Given the description of an element on the screen output the (x, y) to click on. 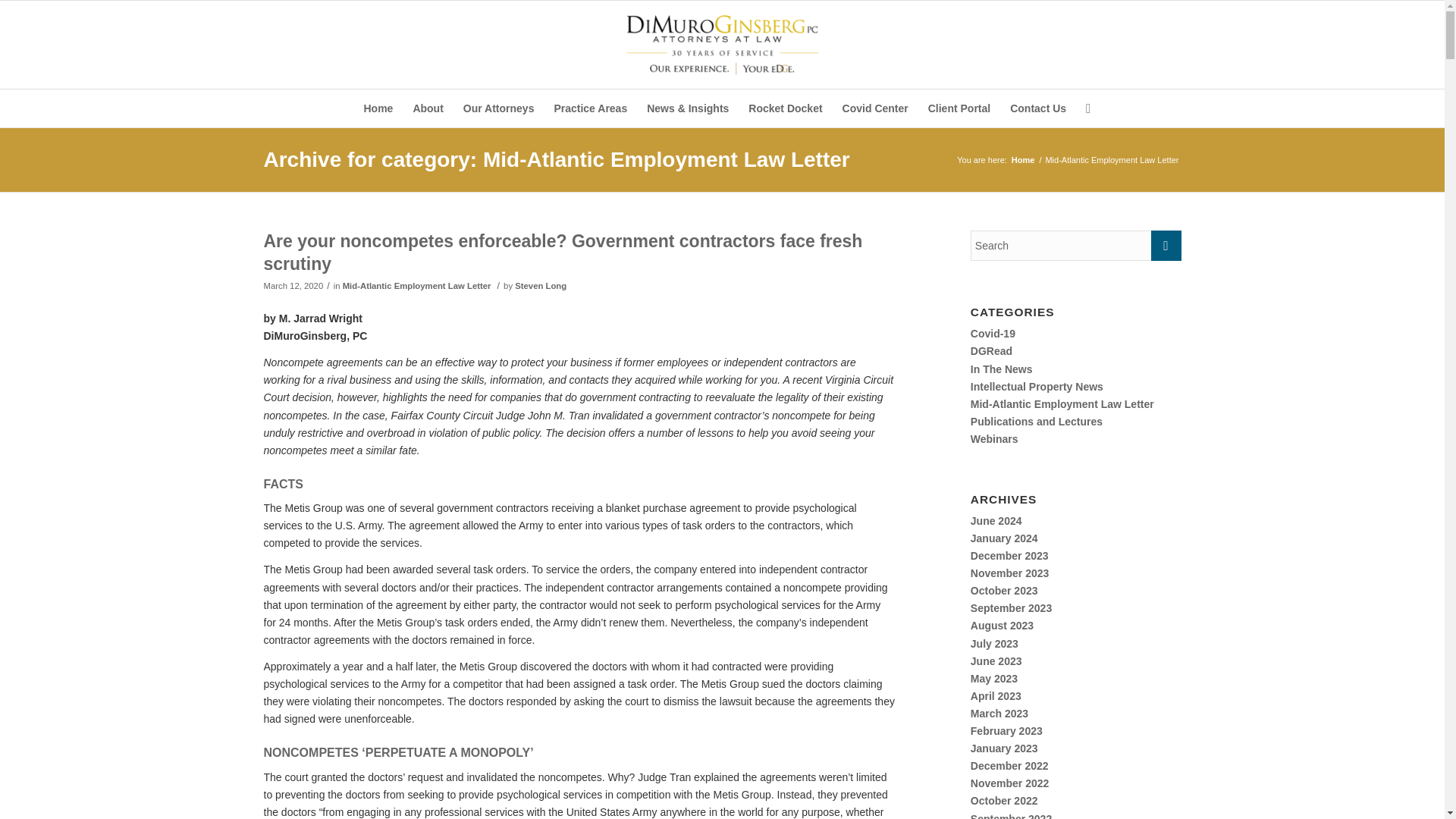
Home (378, 108)
Covid Center (875, 108)
Contact Us (1037, 108)
Mid-Atlantic Employment Law Letter (417, 285)
Practice Areas (590, 108)
Steven Long (540, 285)
Rocket Docket (784, 108)
Client Portal (959, 108)
